Given the description of an element on the screen output the (x, y) to click on. 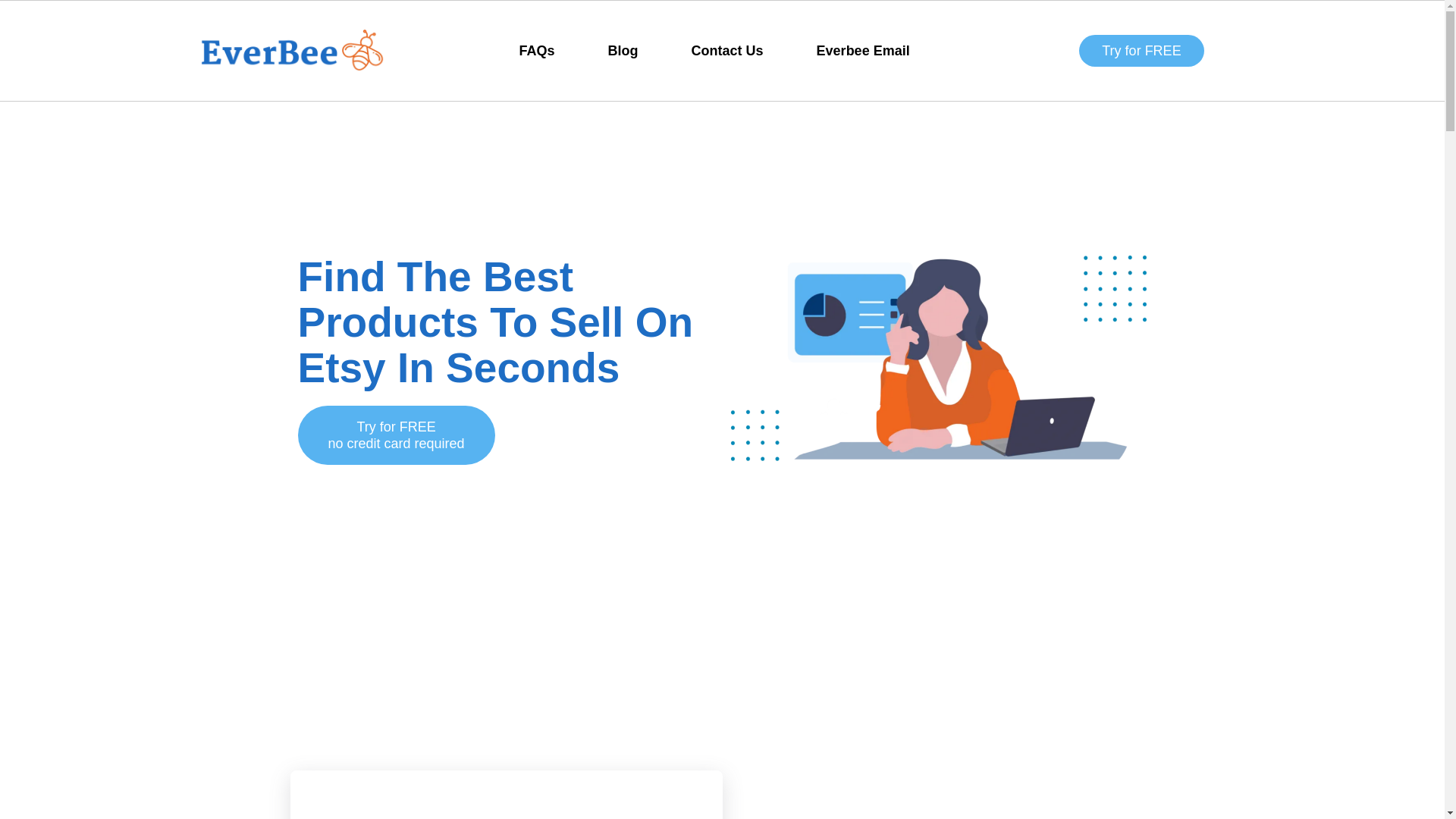
FAQs (537, 50)
Blog (622, 50)
Try for FREE (1141, 50)
Contact Us (180, 435)
Everbee Email (726, 50)
